Given the description of an element on the screen output the (x, y) to click on. 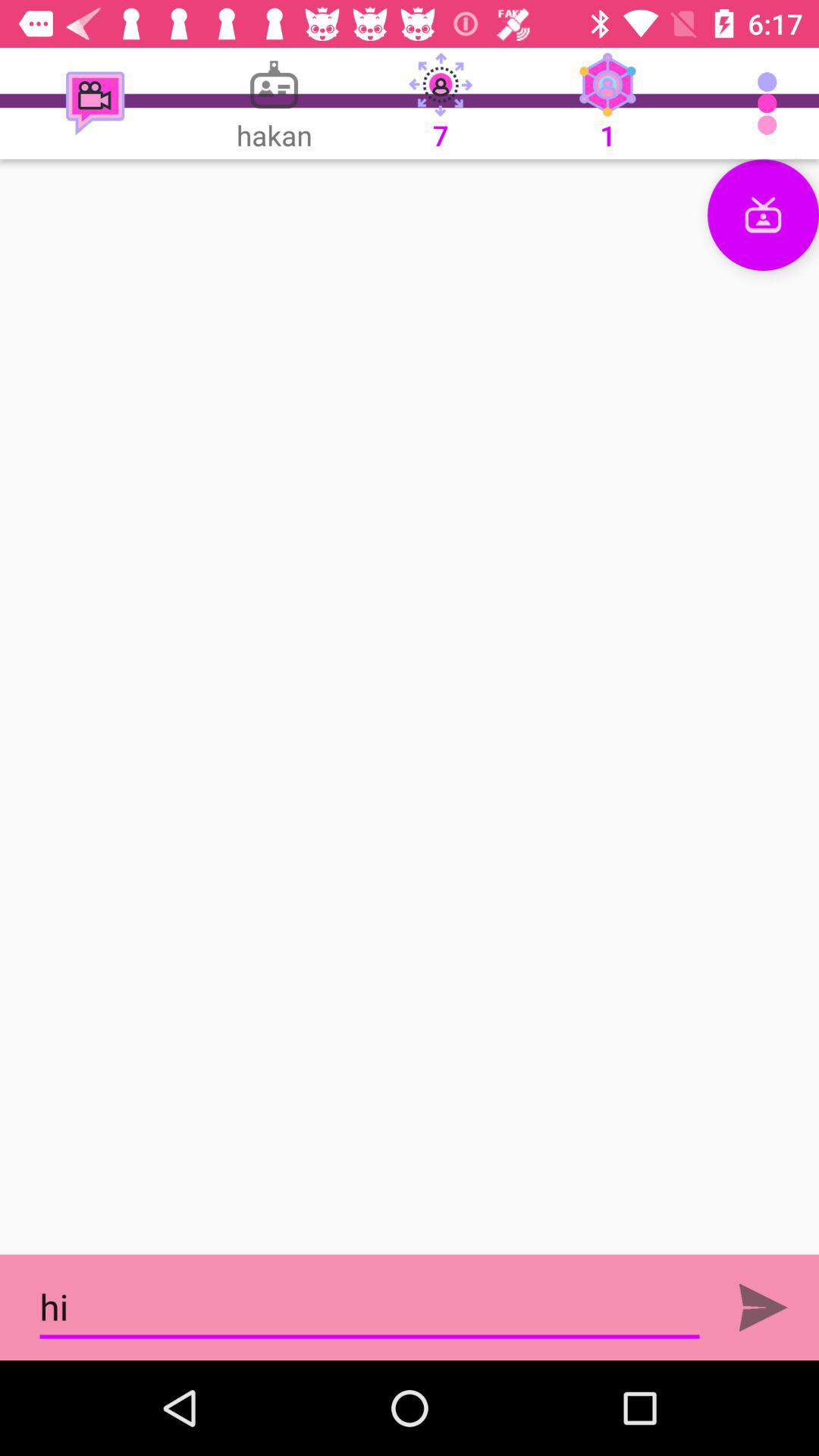
play the video (409, 706)
